Given the description of an element on the screen output the (x, y) to click on. 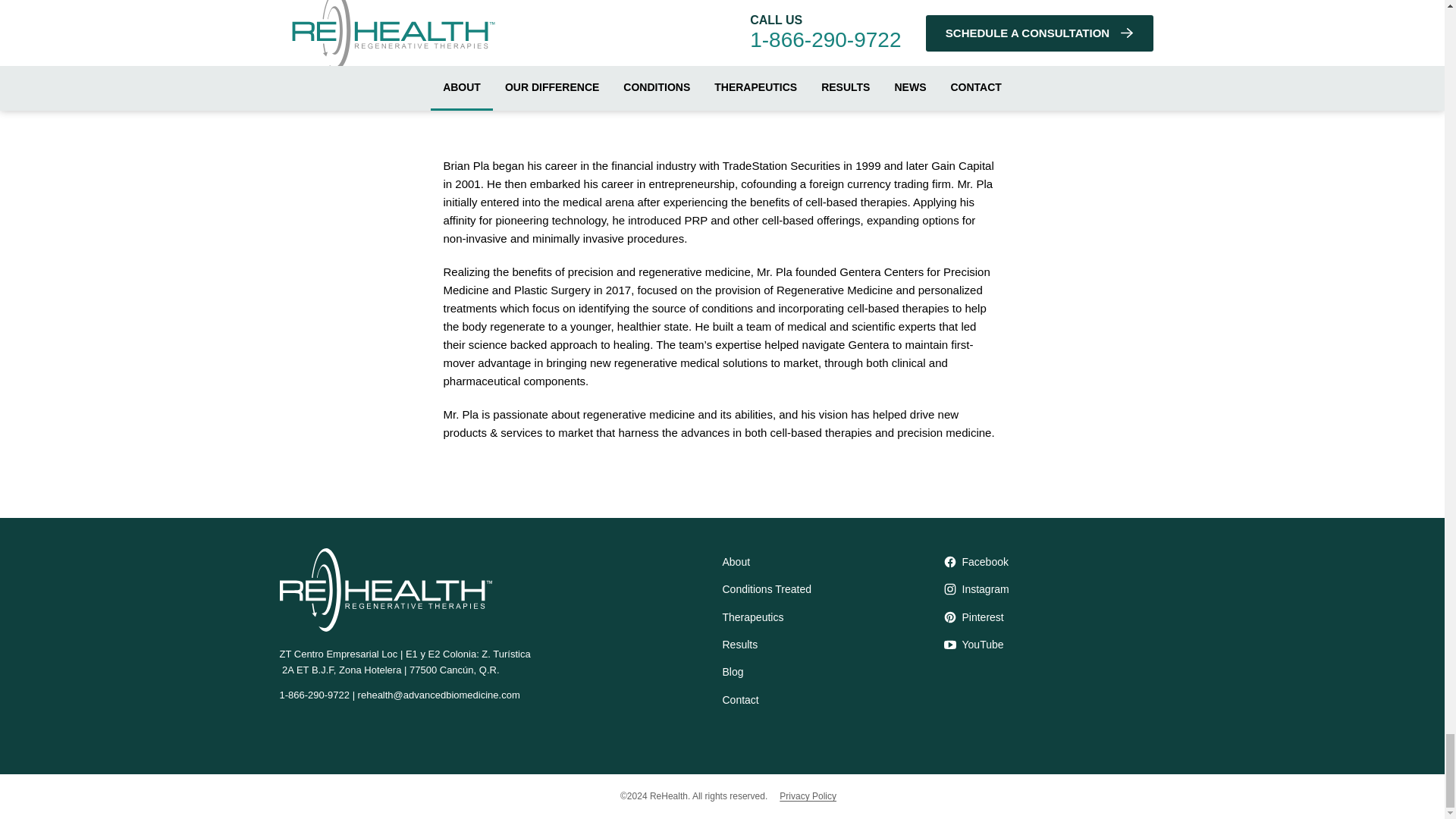
Blog (832, 671)
Instagram (1053, 588)
About (832, 561)
Pinterest (1053, 616)
Therapeutics (832, 616)
Results (832, 644)
Contact (832, 699)
Facebook (1053, 561)
Conditions Treated (832, 588)
